Given the description of an element on the screen output the (x, y) to click on. 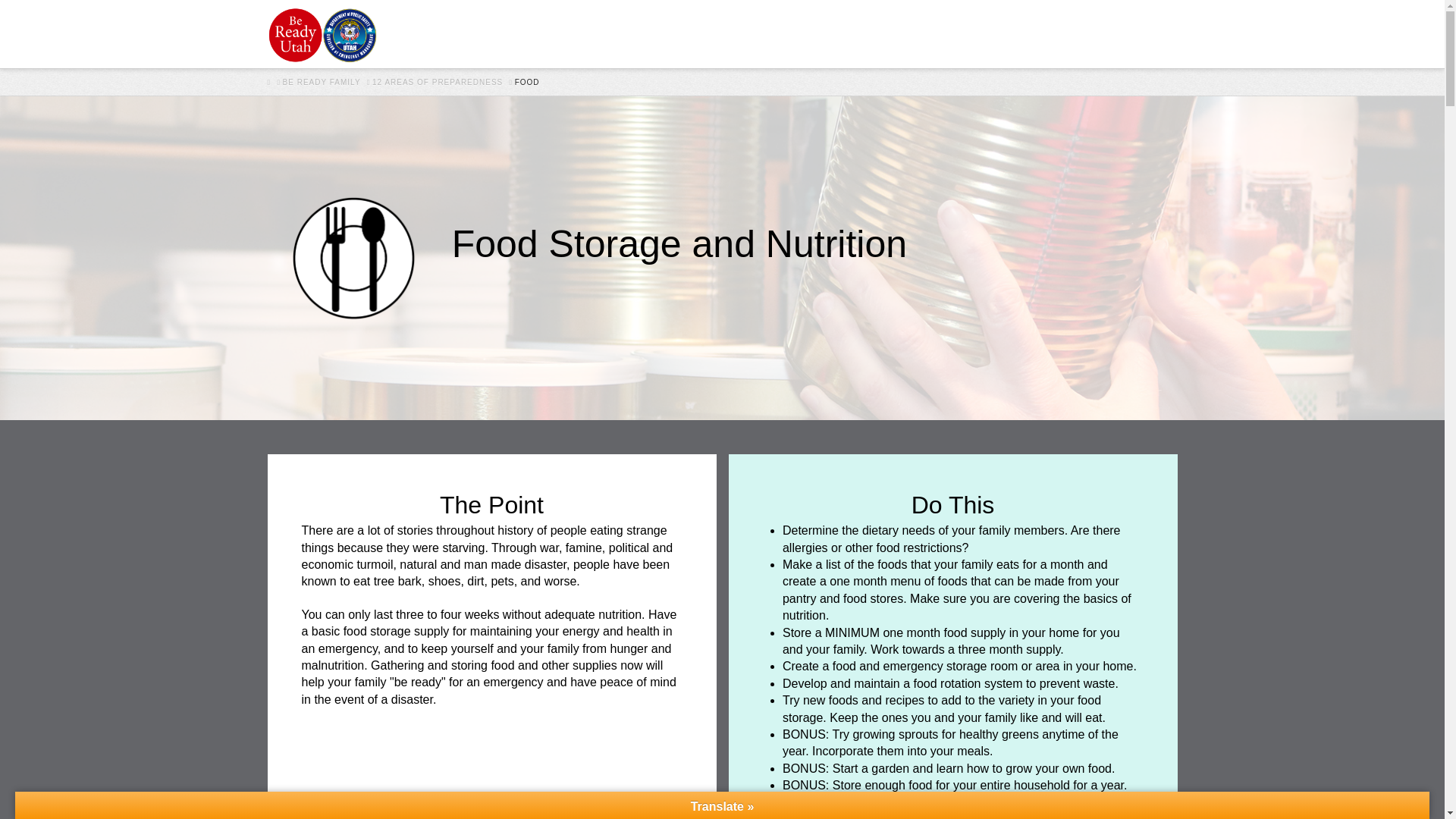
BUSINESS (701, 33)
COMMUNITY (792, 33)
RESOURCES (994, 33)
You Are Here (527, 81)
SCHOOLS (617, 33)
FAMILY (541, 33)
